Given the description of an element on the screen output the (x, y) to click on. 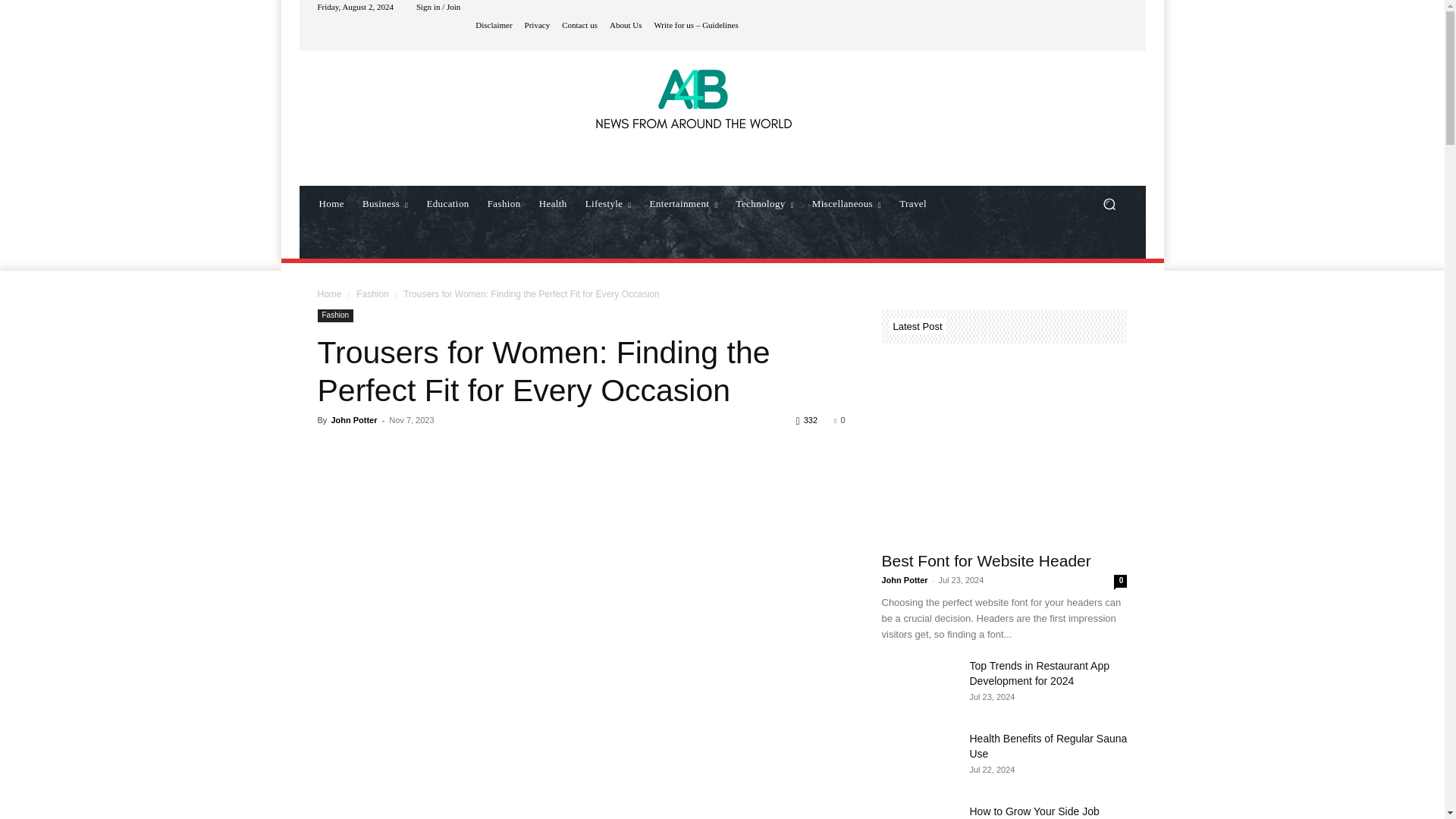
View all posts in Fashion (372, 294)
About Us (626, 25)
Disclaimer (494, 25)
Privacy (537, 25)
Contact us (579, 25)
